Given the description of an element on the screen output the (x, y) to click on. 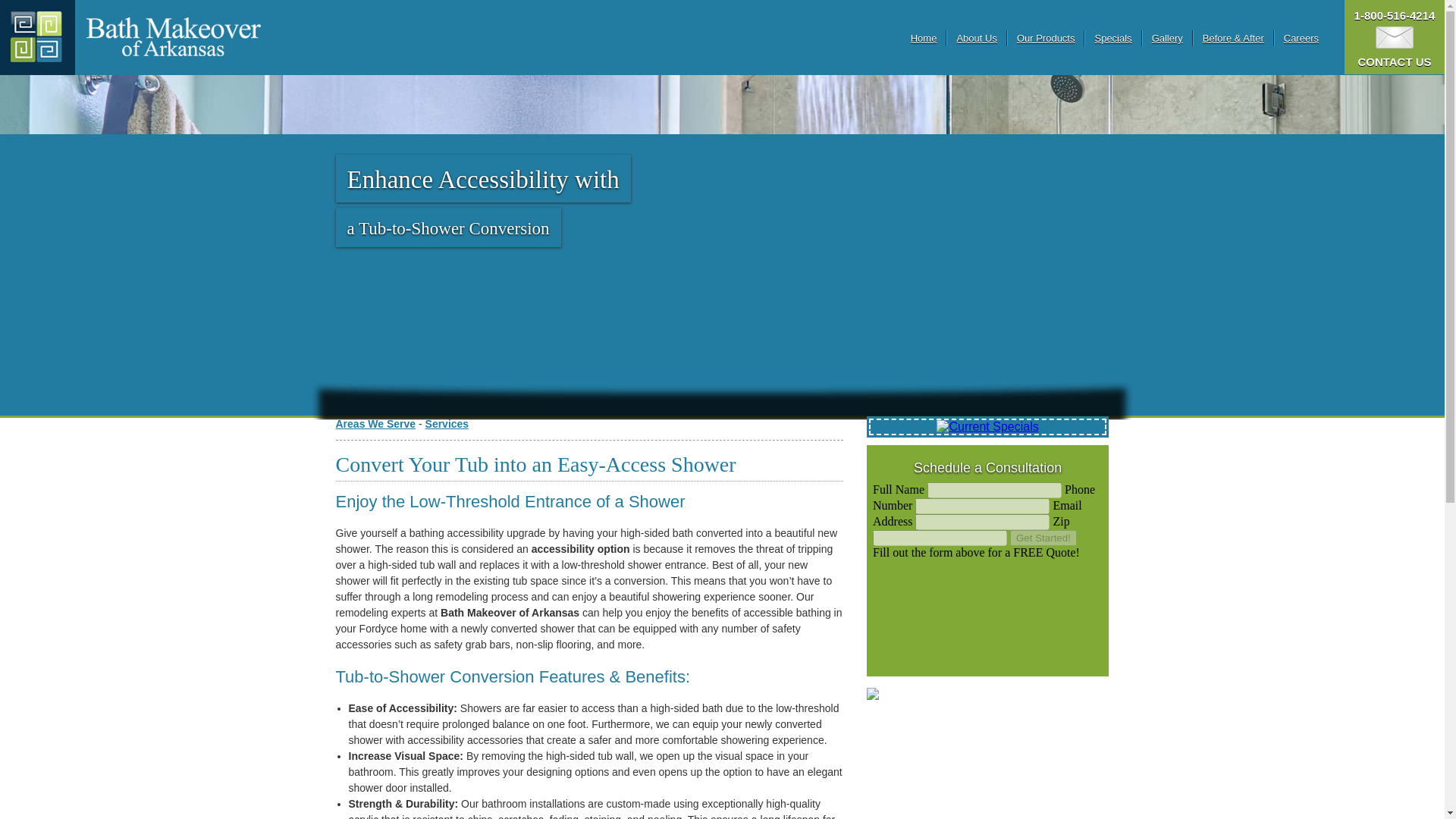
Careers (1301, 38)
Contact Us (1393, 54)
Gallery (1166, 38)
Contact Us (1394, 37)
Home Page (172, 36)
Specials (1112, 38)
Home (924, 38)
Areas We Serve (374, 423)
1-800-516-4214 (1394, 15)
Home Page (172, 37)
Services (446, 423)
CONTACT US (1393, 54)
Current Specials (987, 427)
Home Page (37, 37)
About Us (975, 38)
